Given the description of an element on the screen output the (x, y) to click on. 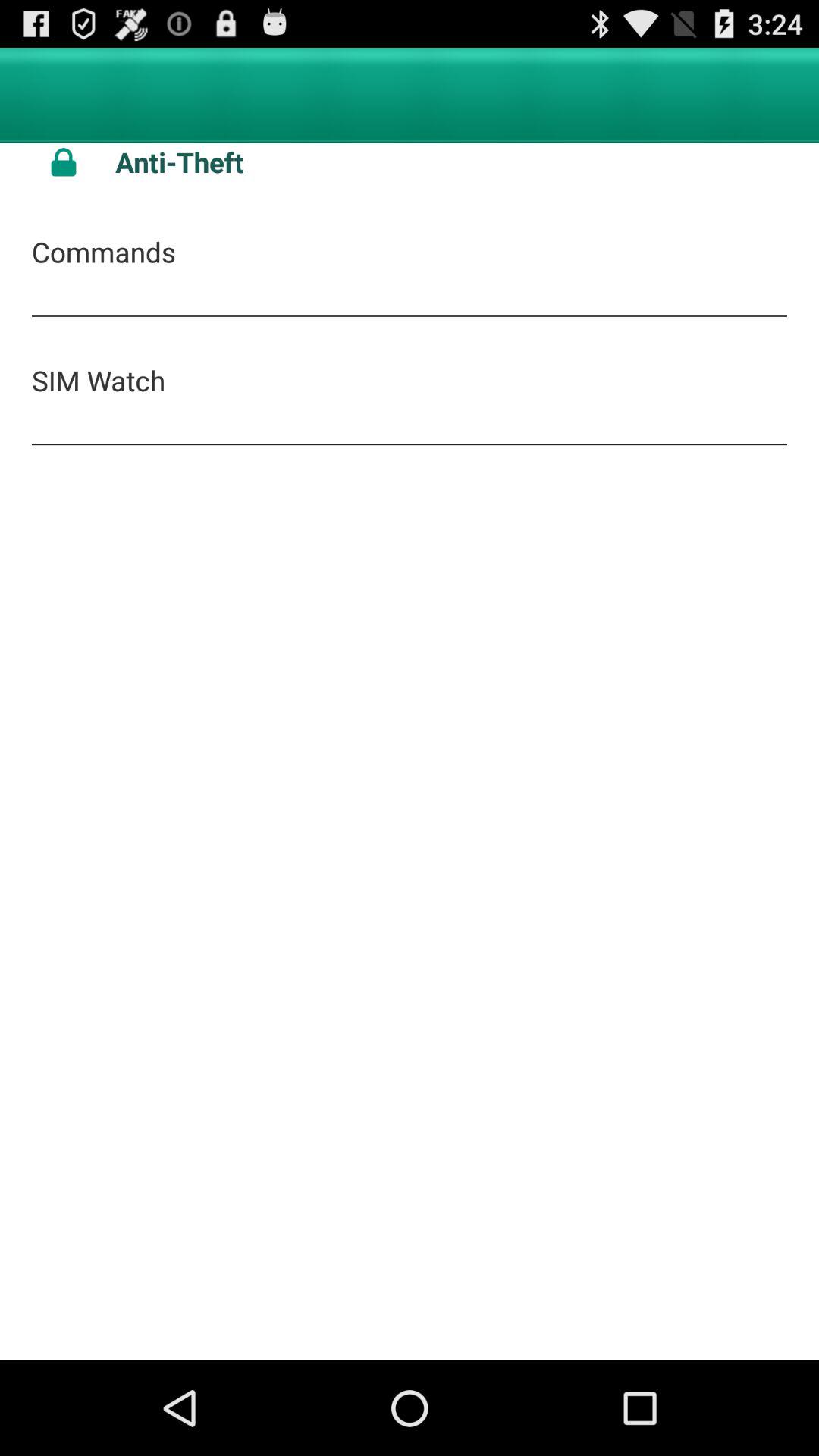
press anti-theft (451, 161)
